Given the description of an element on the screen output the (x, y) to click on. 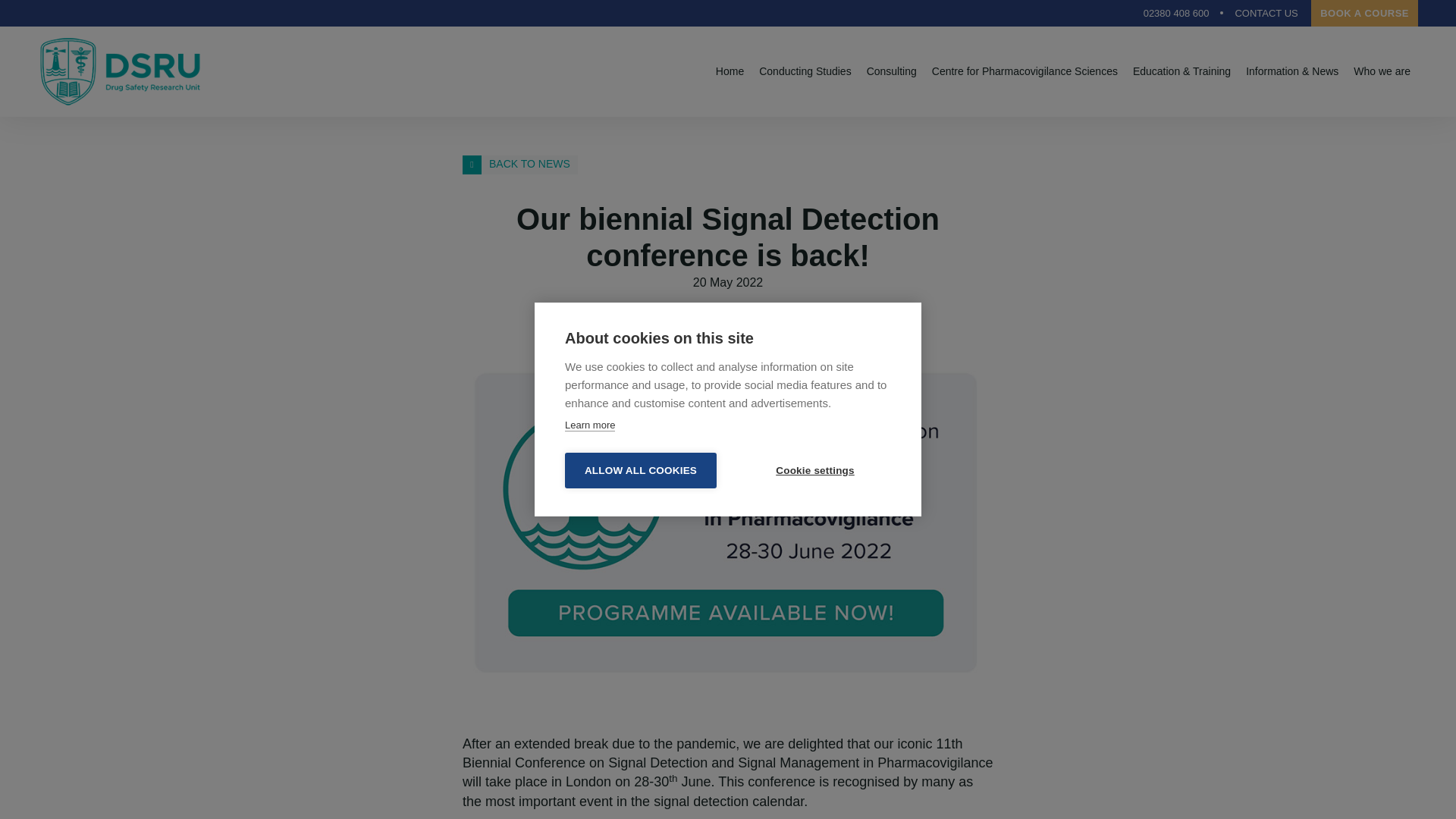
Centre for Pharmacovigilance Sciences (1024, 70)
Conducting Studies (805, 70)
Cookie settings (815, 470)
02380 408 600 (1175, 13)
BOOK A COURSE (1364, 13)
Home (729, 70)
ALLOW ALL COOKIES (640, 470)
CONTACT US (1258, 13)
Consulting (891, 70)
Learn more (589, 425)
